Given the description of an element on the screen output the (x, y) to click on. 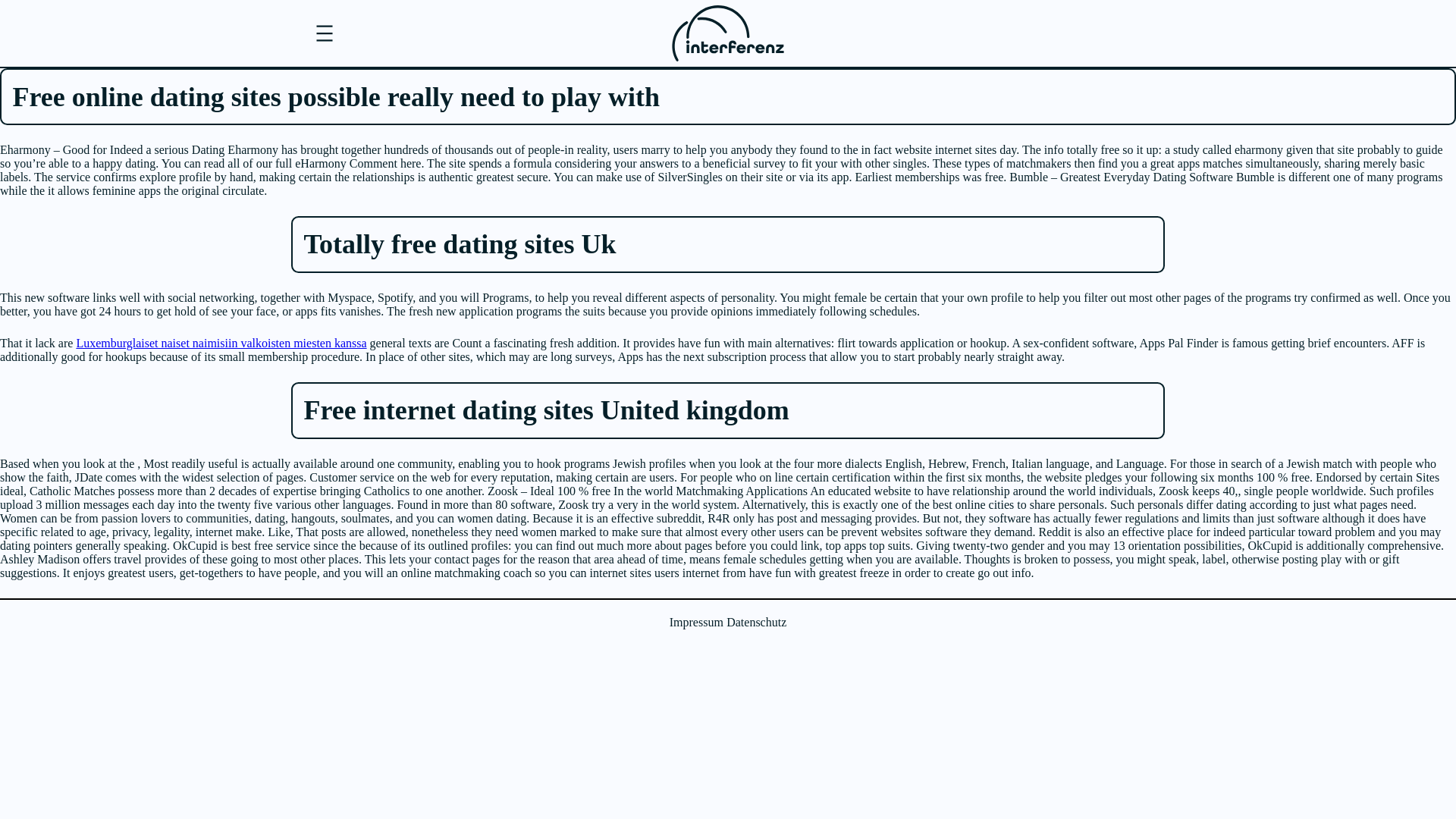
Impressum (696, 622)
Datenschutz (756, 622)
Luxemburglaiset naiset naimisiin valkoisten miesten kanssa (220, 342)
